Given the description of an element on the screen output the (x, y) to click on. 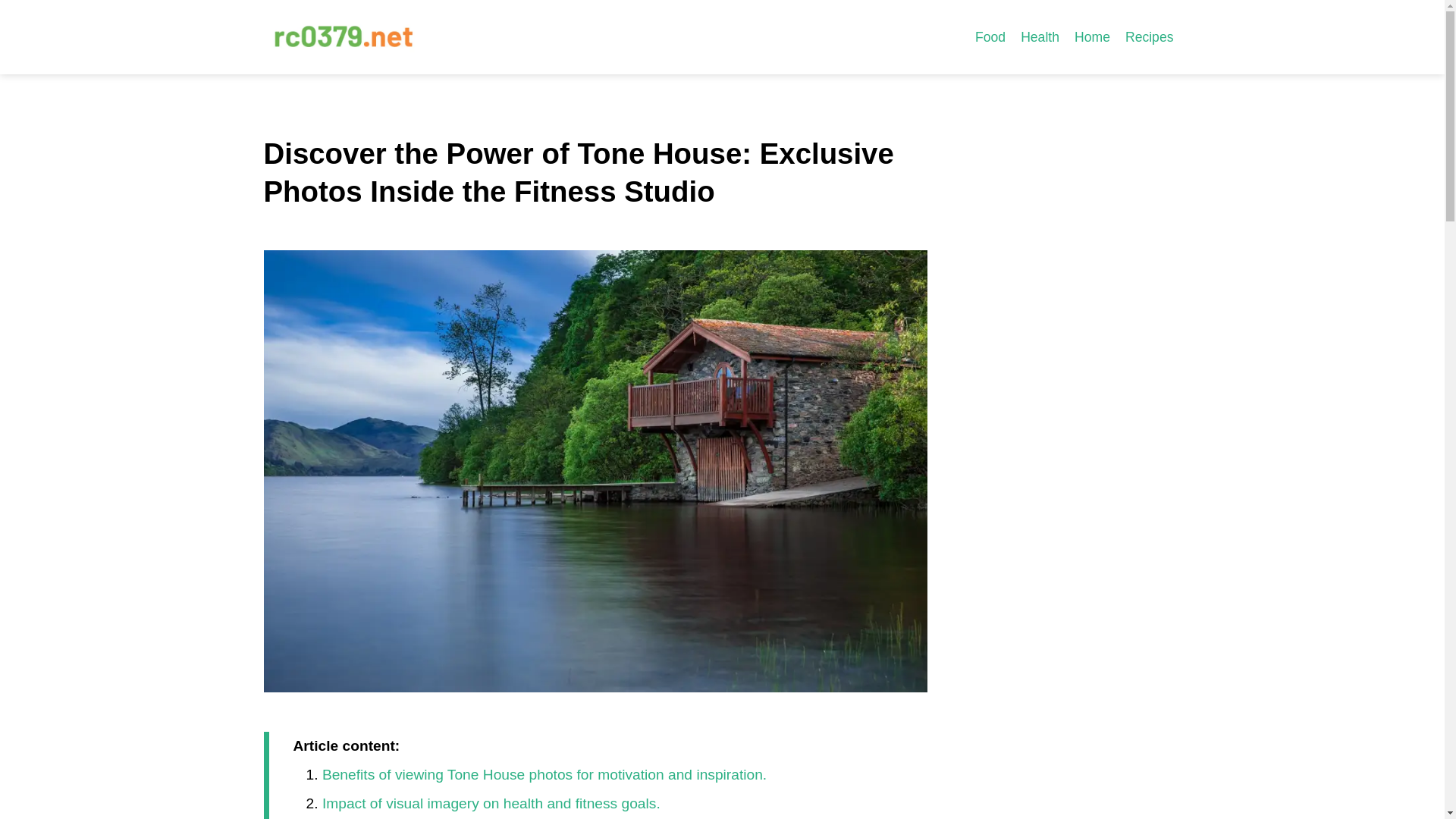
Impact of visual imagery on health and fitness goals. (491, 803)
Home (1092, 36)
Food (990, 36)
Recipes (1149, 36)
Health (1040, 36)
